Given the description of an element on the screen output the (x, y) to click on. 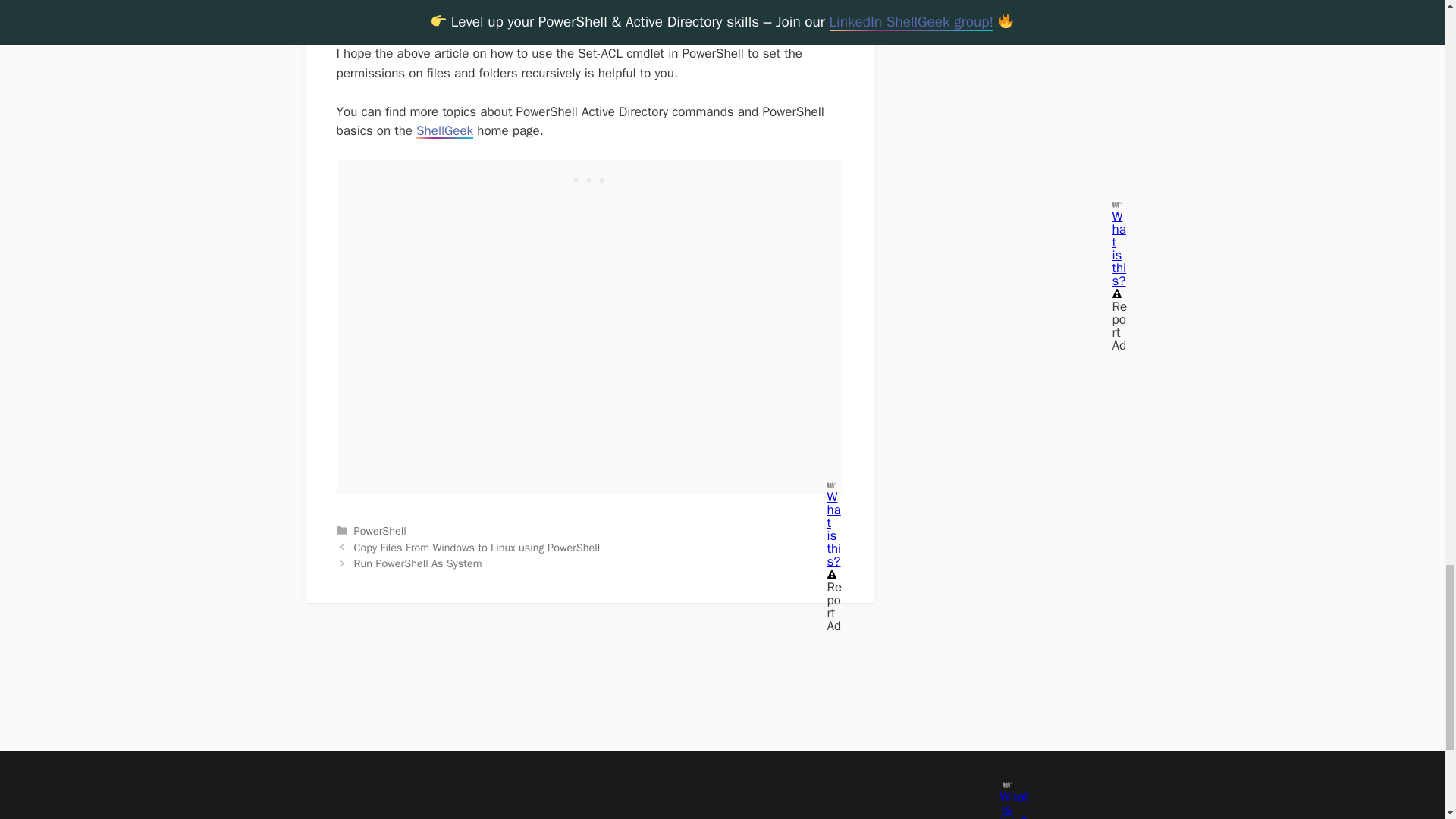
Copy Files From Windows to Linux using PowerShell (476, 547)
Run PowerShell As System (417, 563)
3rd party ad content (589, 178)
ShellGeek (444, 130)
PowerShell (379, 530)
